Given the description of an element on the screen output the (x, y) to click on. 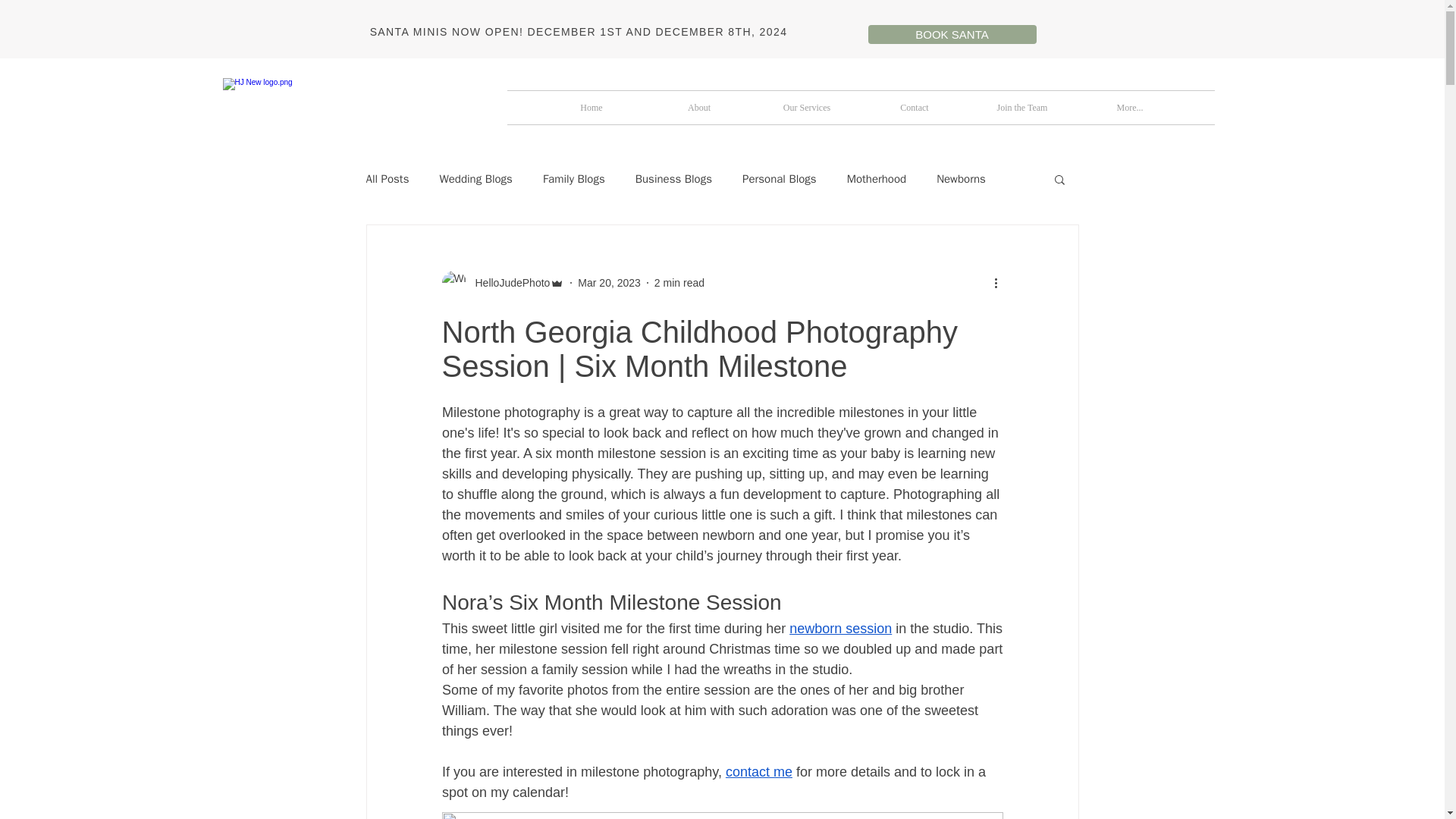
Business Blogs (672, 178)
contact me (758, 771)
HelloJudePhoto (507, 282)
Join the Team (1021, 107)
newborn session (840, 628)
Home (591, 107)
Wedding Blogs (475, 178)
Newborns (960, 178)
BOOK SANTA (951, 34)
Motherhood (876, 178)
